Given the description of an element on the screen output the (x, y) to click on. 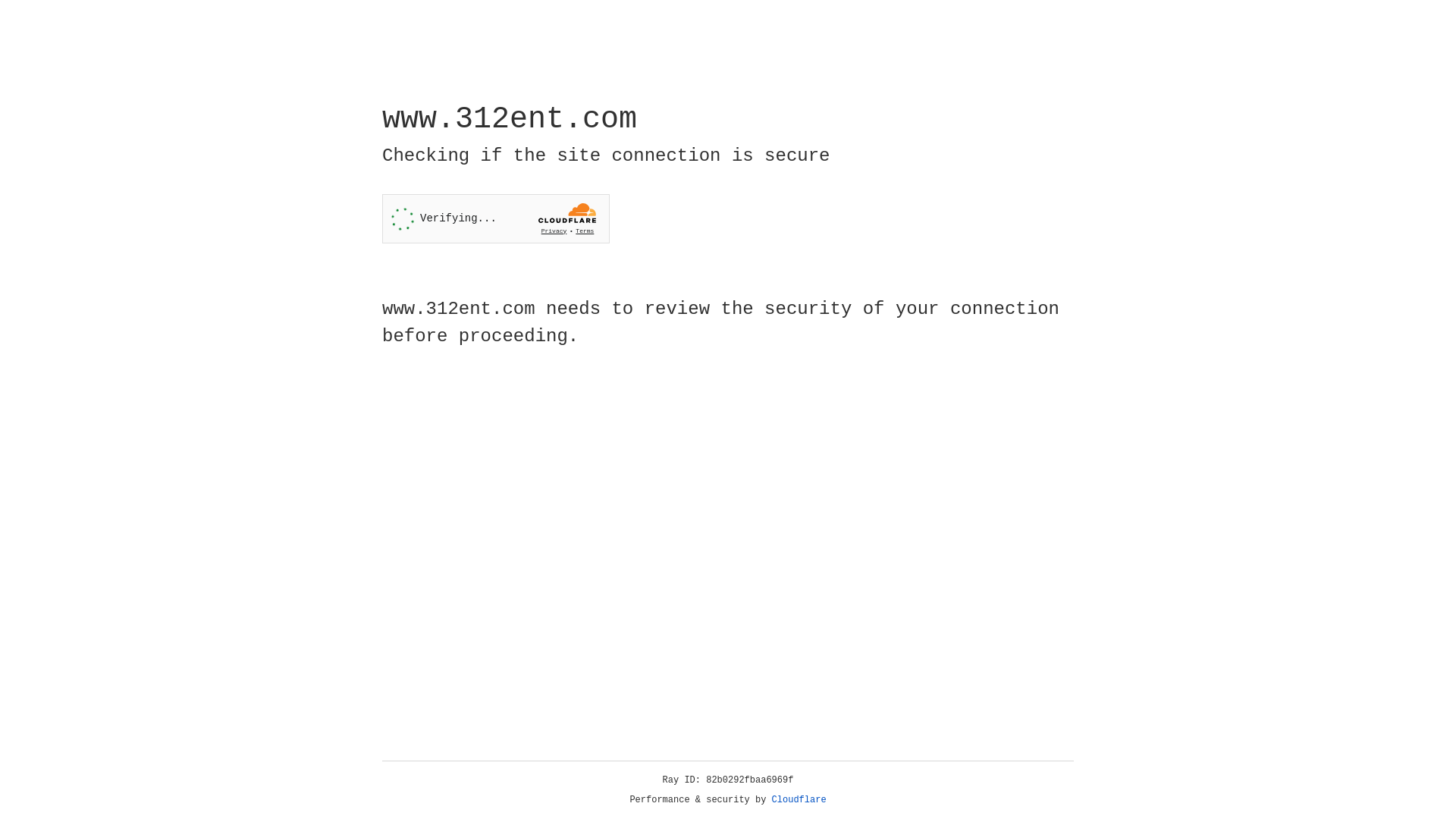
Widget containing a Cloudflare security challenge Element type: hover (495, 218)
Cloudflare Element type: text (798, 799)
